Given the description of an element on the screen output the (x, y) to click on. 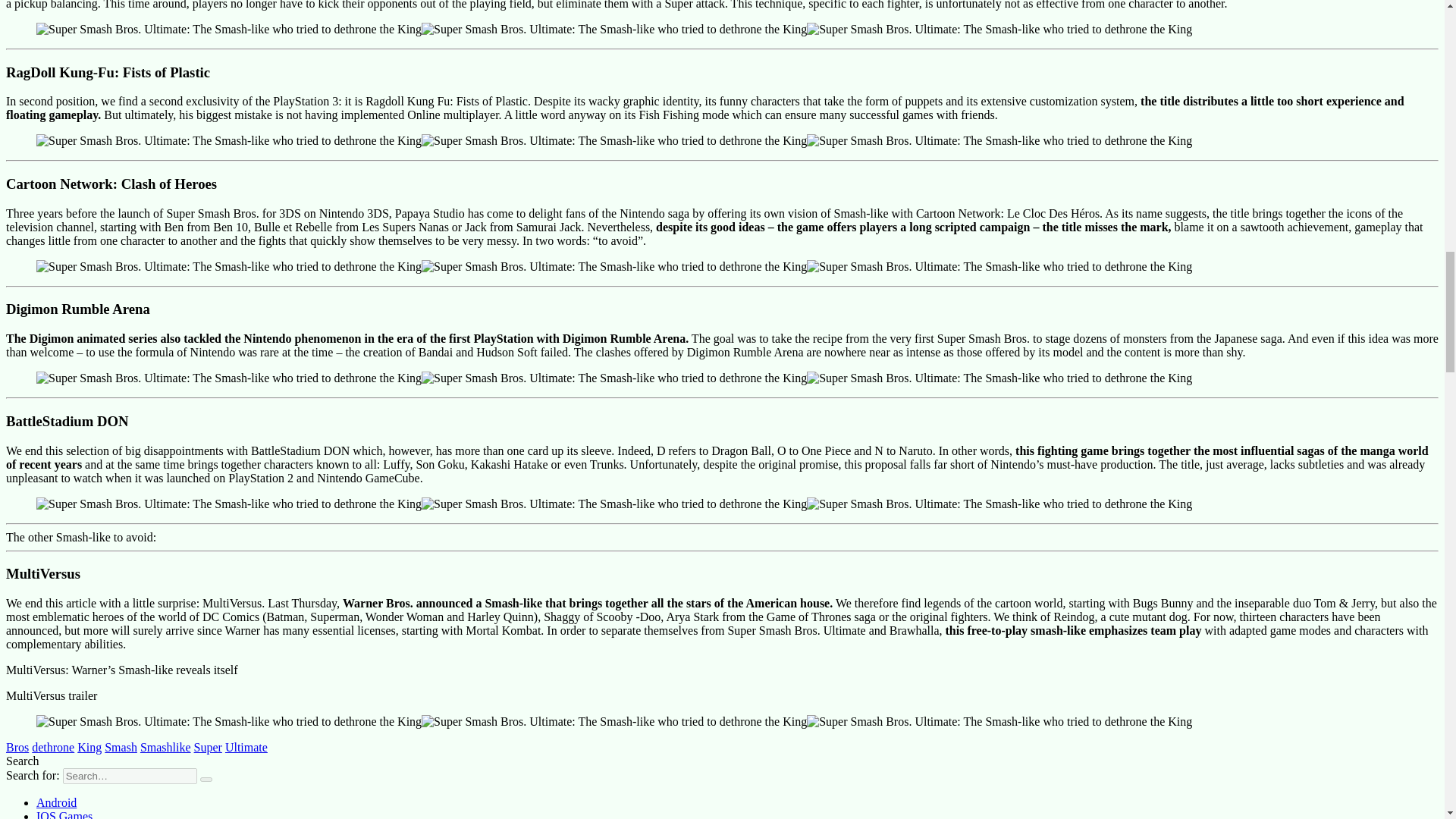
Smashlike (164, 747)
Super (207, 747)
Bros (17, 747)
dethrone (53, 747)
King (89, 747)
Android (56, 802)
Ultimate (246, 747)
Smash (120, 747)
IOS Games (64, 814)
